Given the description of an element on the screen output the (x, y) to click on. 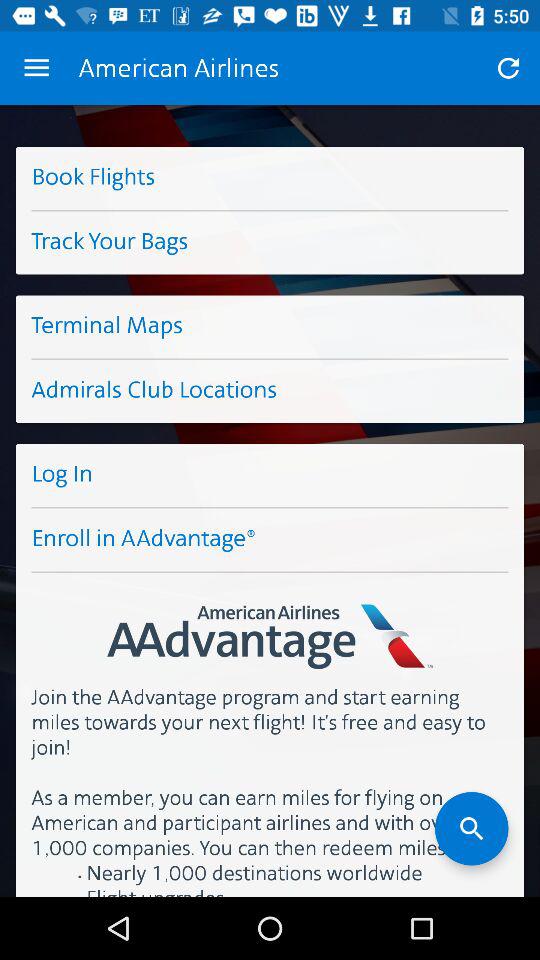
click on the button below log in (269, 540)
select the text below enroll in aadvantage (270, 621)
click the button book flights on the web page (269, 178)
click the button below the button book flights on the web page (269, 243)
